Given the description of an element on the screen output the (x, y) to click on. 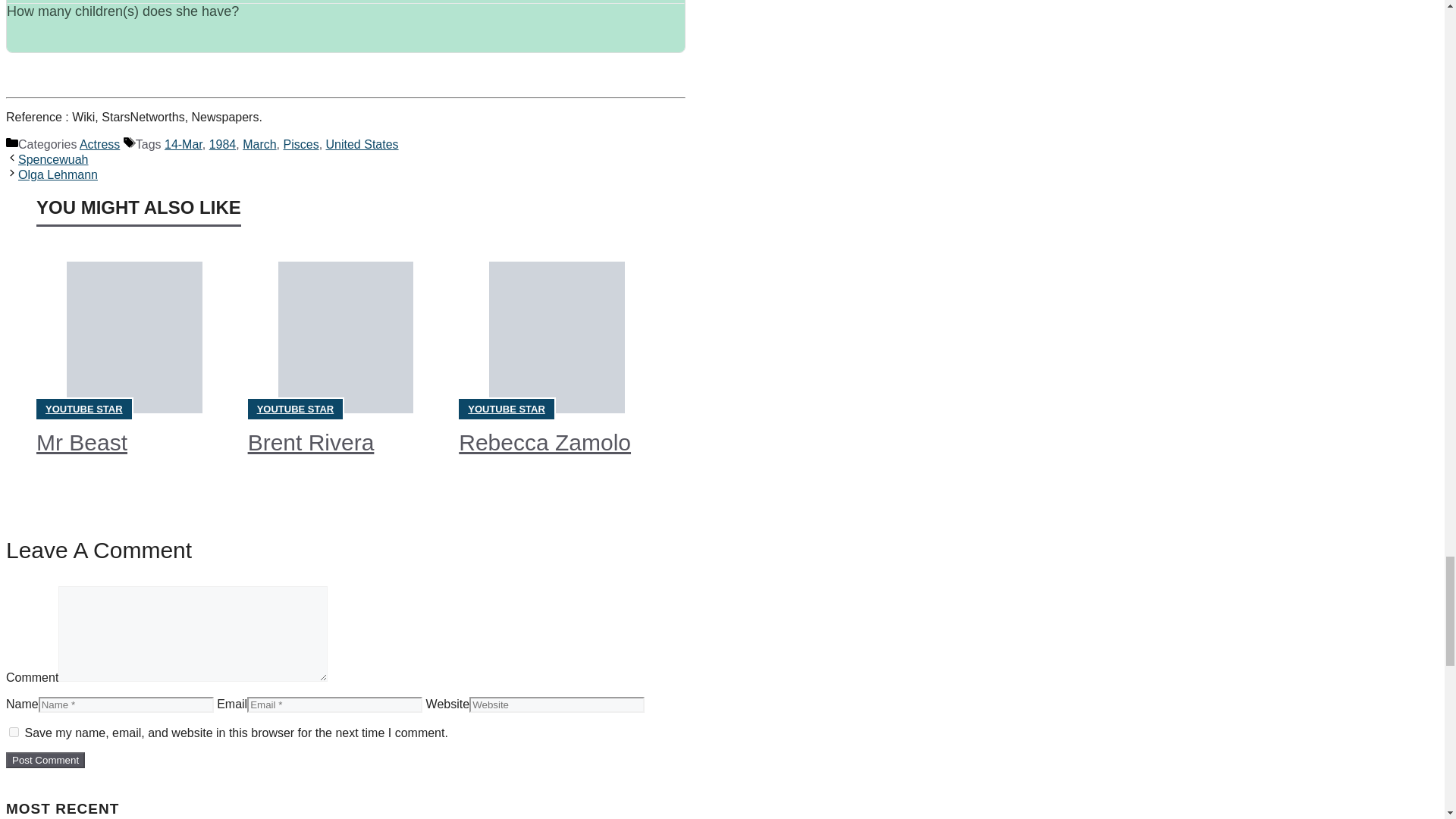
March (259, 144)
YOUTUBE STAR (295, 408)
United States (362, 144)
Brent Rivera (310, 442)
1984 (222, 144)
14-Mar (183, 144)
Post Comment (44, 760)
Spencewuah (52, 159)
YOUTUBE STAR (83, 408)
Mr Beast (82, 442)
Actress (99, 144)
YOUTUBE STAR (505, 408)
Olga Lehmann (57, 174)
Post Comment (44, 760)
Pisces (300, 144)
